Given the description of an element on the screen output the (x, y) to click on. 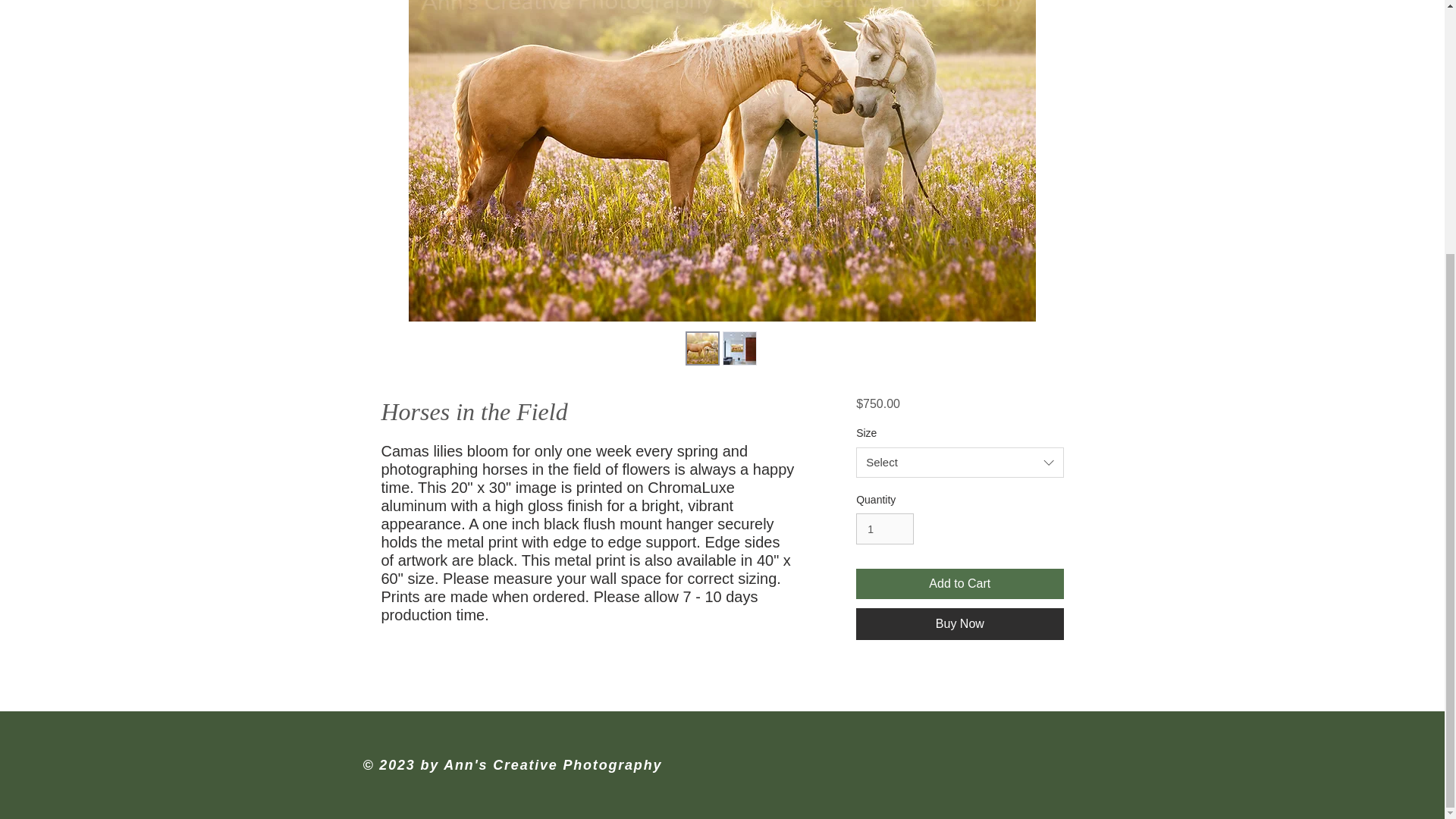
Select (959, 462)
Buy Now (959, 623)
1 (885, 528)
Add to Cart (959, 583)
